Given the description of an element on the screen output the (x, y) to click on. 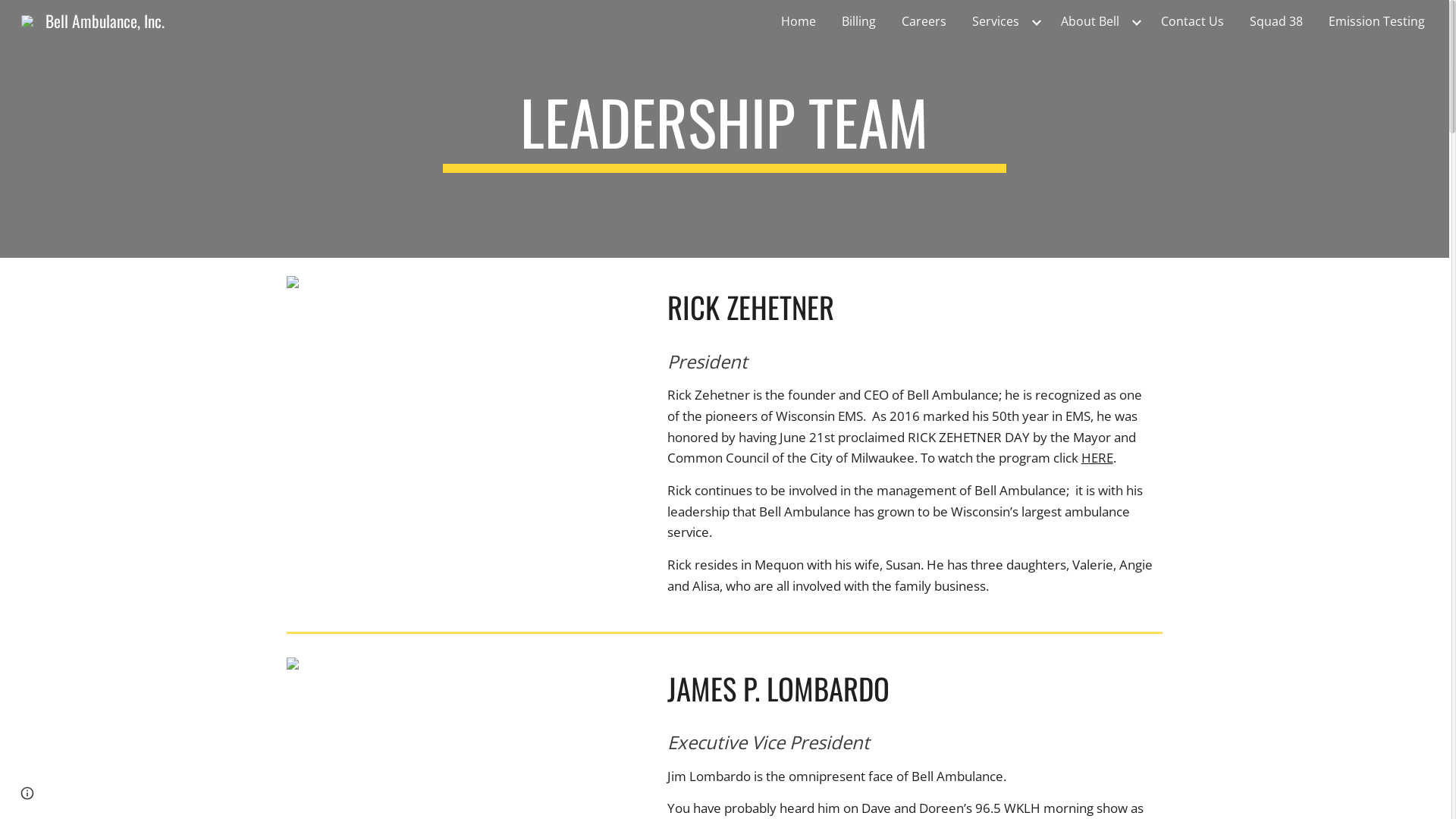
About Bell Element type: text (1089, 20)
Home Element type: text (798, 20)
Expand/Collapse Element type: hover (1135, 20)
Expand/Collapse Element type: hover (1035, 20)
Squad 38 Element type: text (1276, 20)
Services Element type: text (995, 20)
Careers Element type: text (923, 20)
Billing Element type: text (858, 20)
Contact Us Element type: text (1192, 20)
HERE Element type: text (1097, 457)
Emission Testing Element type: text (1376, 20)
Bell Ambulance, Inc. Element type: text (92, 18)
